Given the description of an element on the screen output the (x, y) to click on. 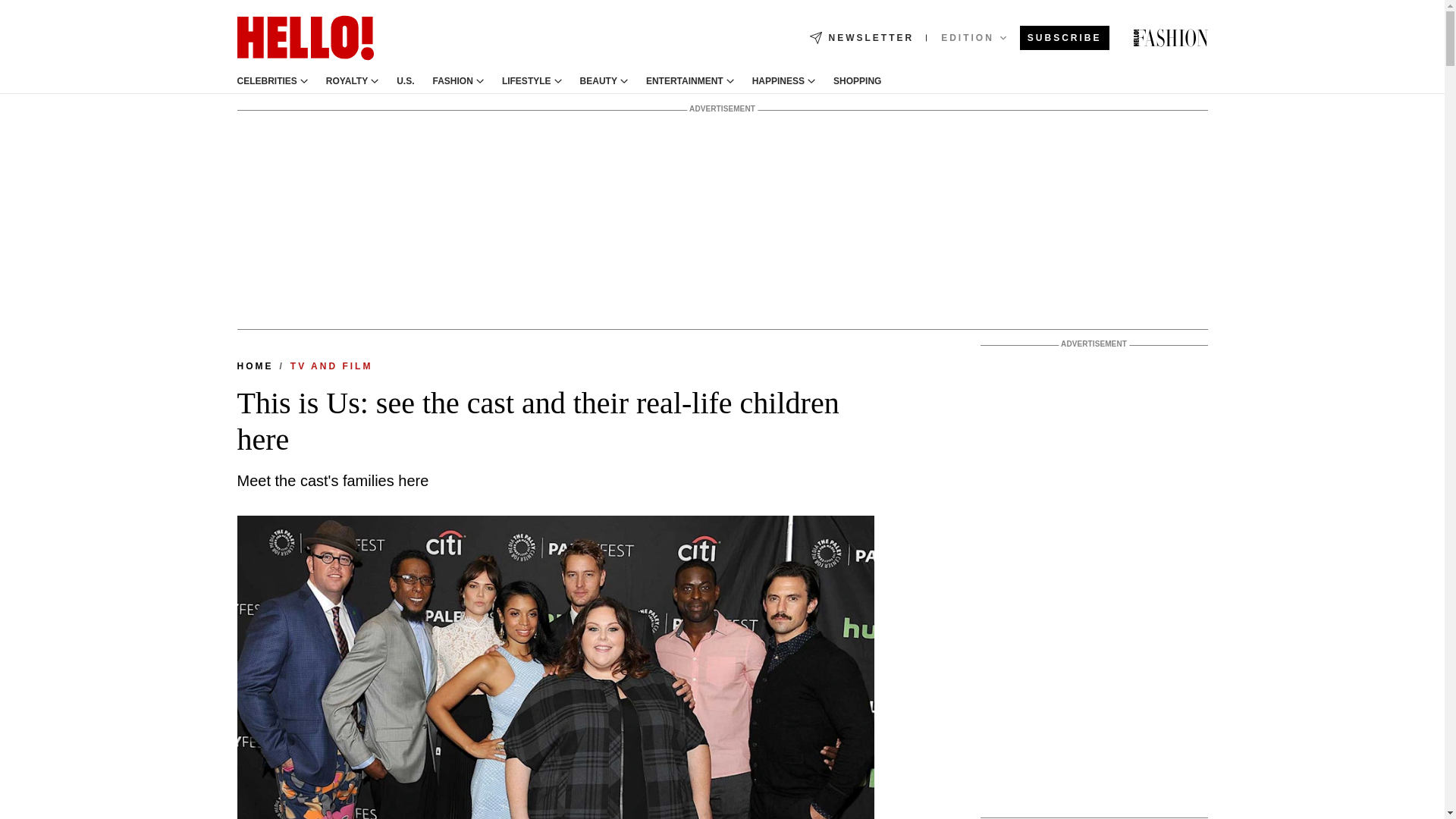
U.S. (404, 81)
CELEBRITIES (266, 81)
FASHION (452, 81)
BEAUTY (598, 81)
ROYALTY (347, 81)
NEWSLETTER (861, 38)
